Given the description of an element on the screen output the (x, y) to click on. 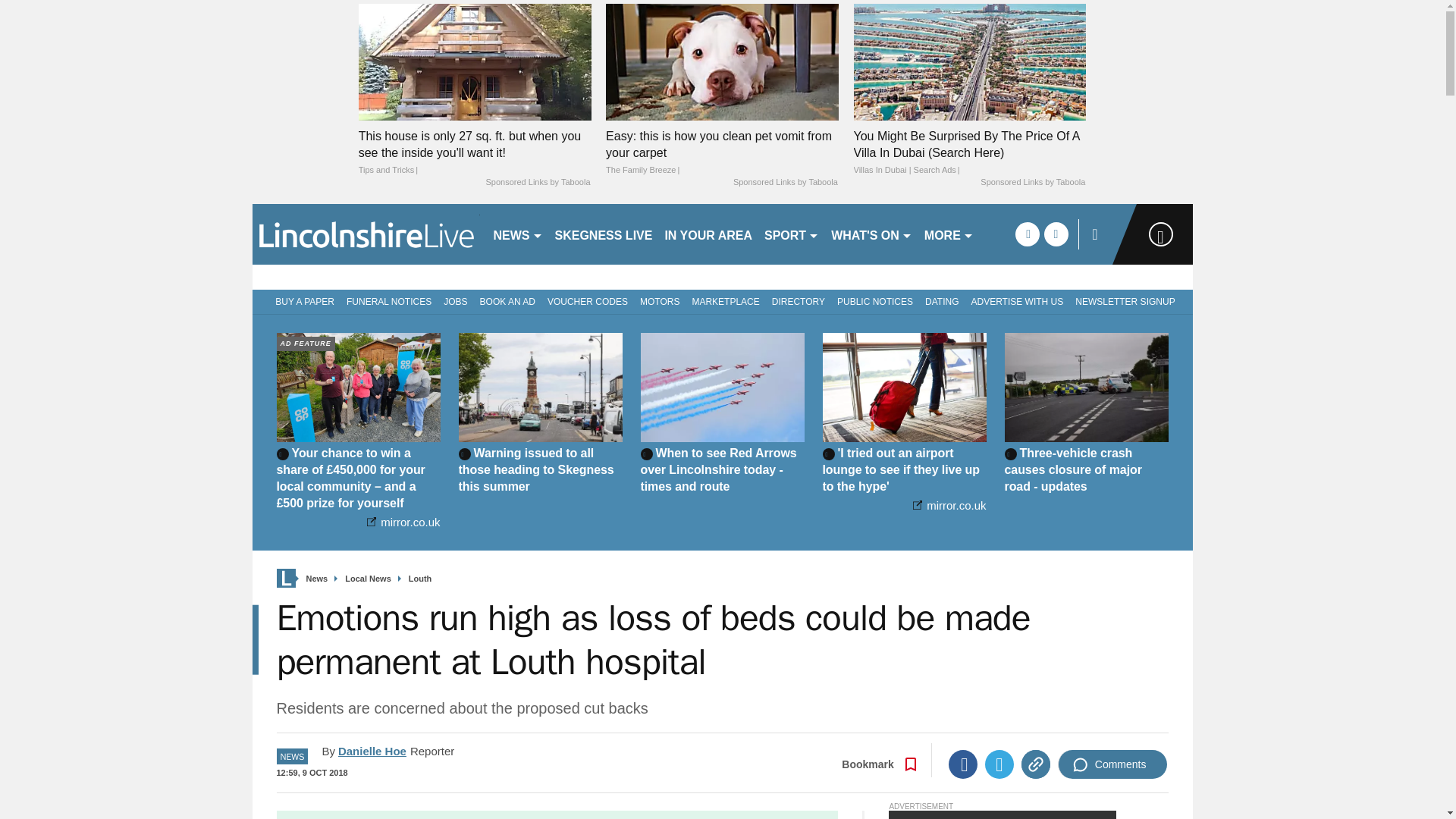
IN YOUR AREA (708, 233)
Sponsored Links by Taboola (785, 182)
Twitter (999, 764)
WHAT'S ON (871, 233)
SKEGNESS LIVE (603, 233)
SPORT (791, 233)
NEWS (517, 233)
Easy: this is how you clean pet vomit from your carpet (721, 152)
Facebook (962, 764)
twitter (1055, 233)
facebook (1026, 233)
Sponsored Links by Taboola (1031, 182)
Sponsored Links by Taboola (536, 182)
lincolnshirelive (365, 233)
